Given the description of an element on the screen output the (x, y) to click on. 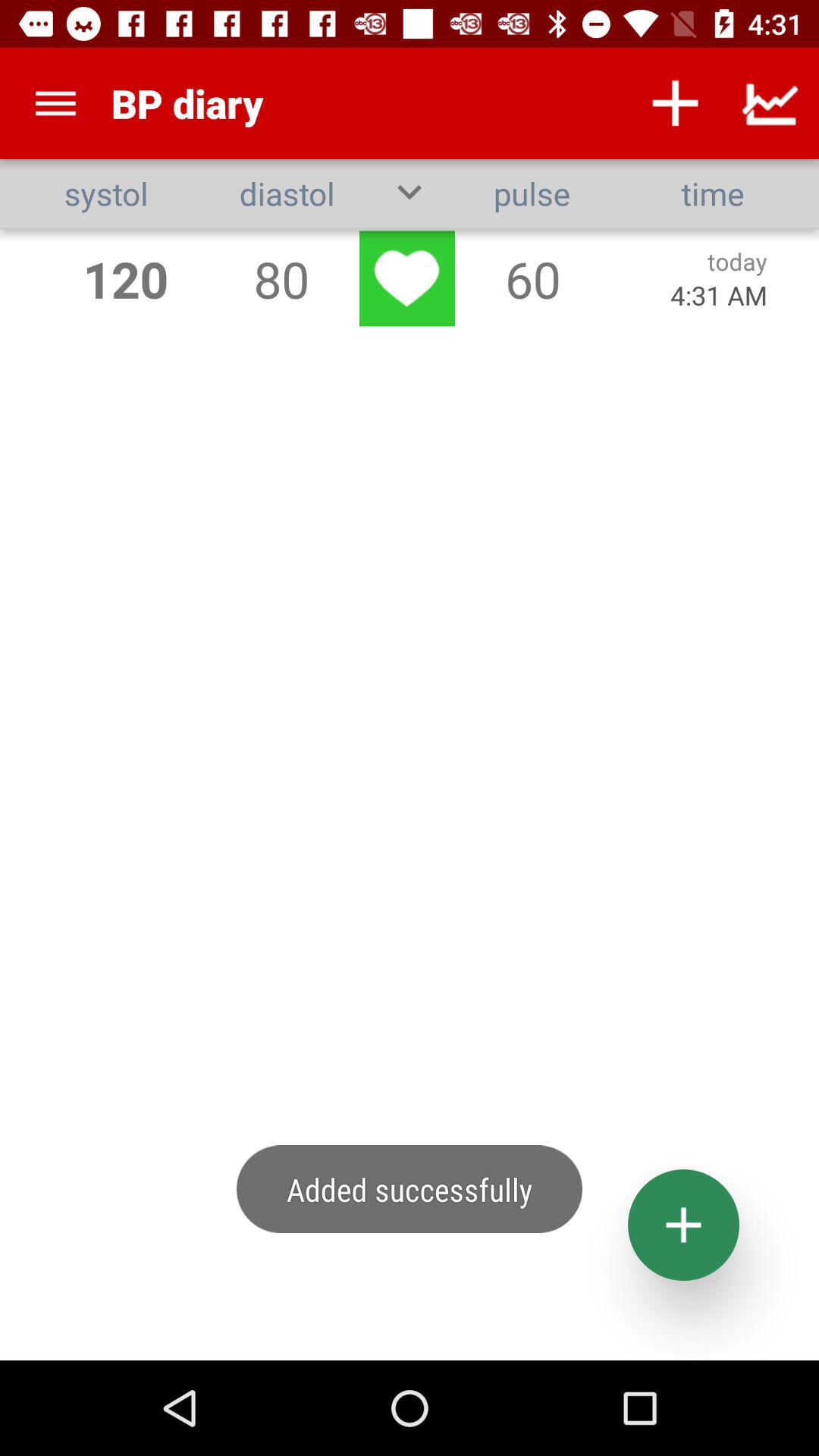
click the item below the systol app (125, 278)
